Given the description of an element on the screen output the (x, y) to click on. 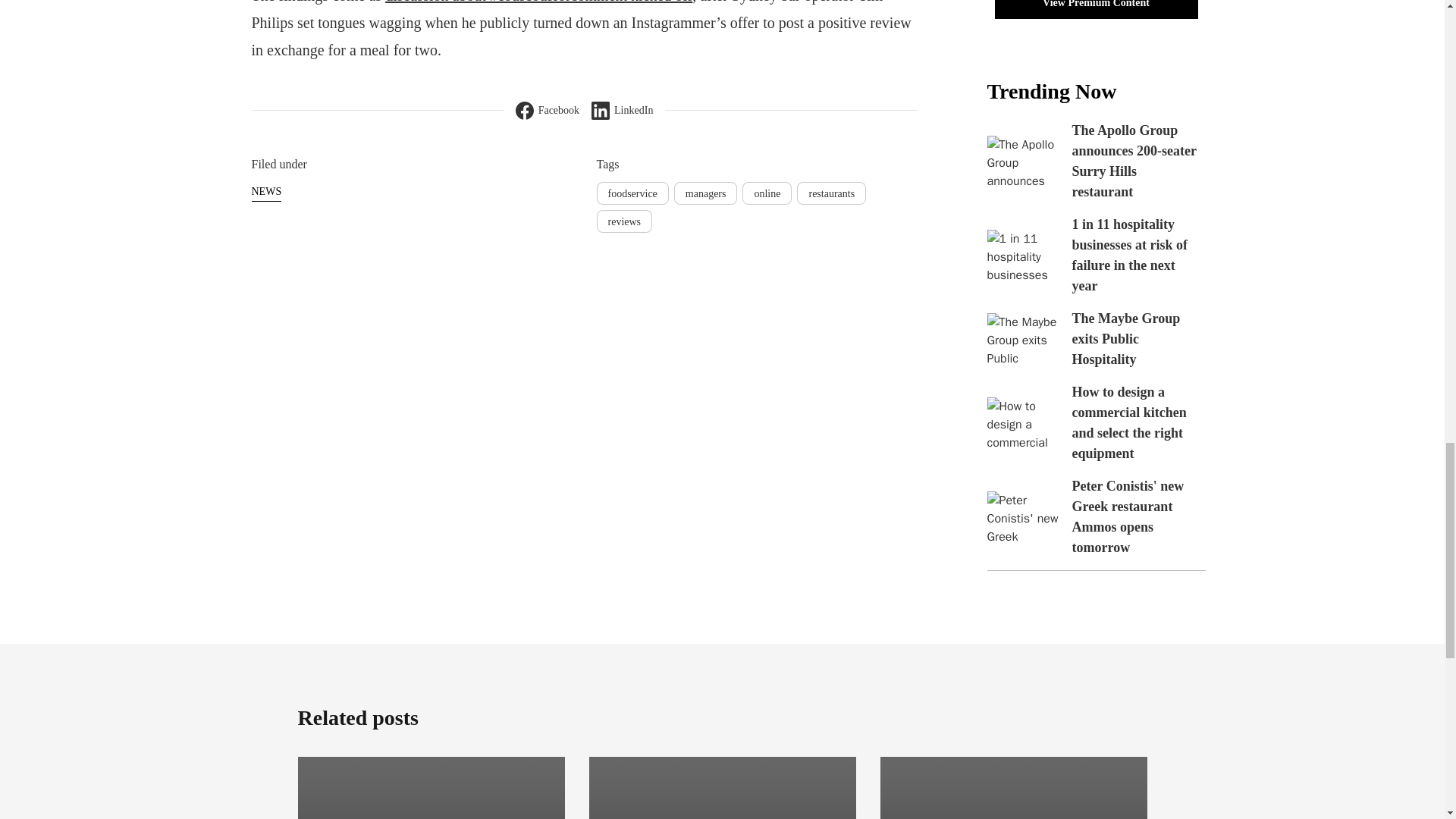
The Maybe Group exits Public Hospitality (1024, 338)
managers (706, 192)
NEWS (266, 191)
foodservice (631, 192)
The Apollo Group announces 200-seater Surry Hills restaurant (1133, 160)
Peter Conistis' new Greek restaurant Ammos opens tomorrow (1128, 516)
LinkedIn (621, 110)
The Maybe Group exits Public Hospitality (1125, 338)
Peter Conistis' new Greek restaurant Ammos opens tomorrow (1024, 517)
restaurants (831, 192)
online (767, 192)
The Apollo Group announces 200-seater Surry Hills restaurant (1024, 161)
